Given the description of an element on the screen output the (x, y) to click on. 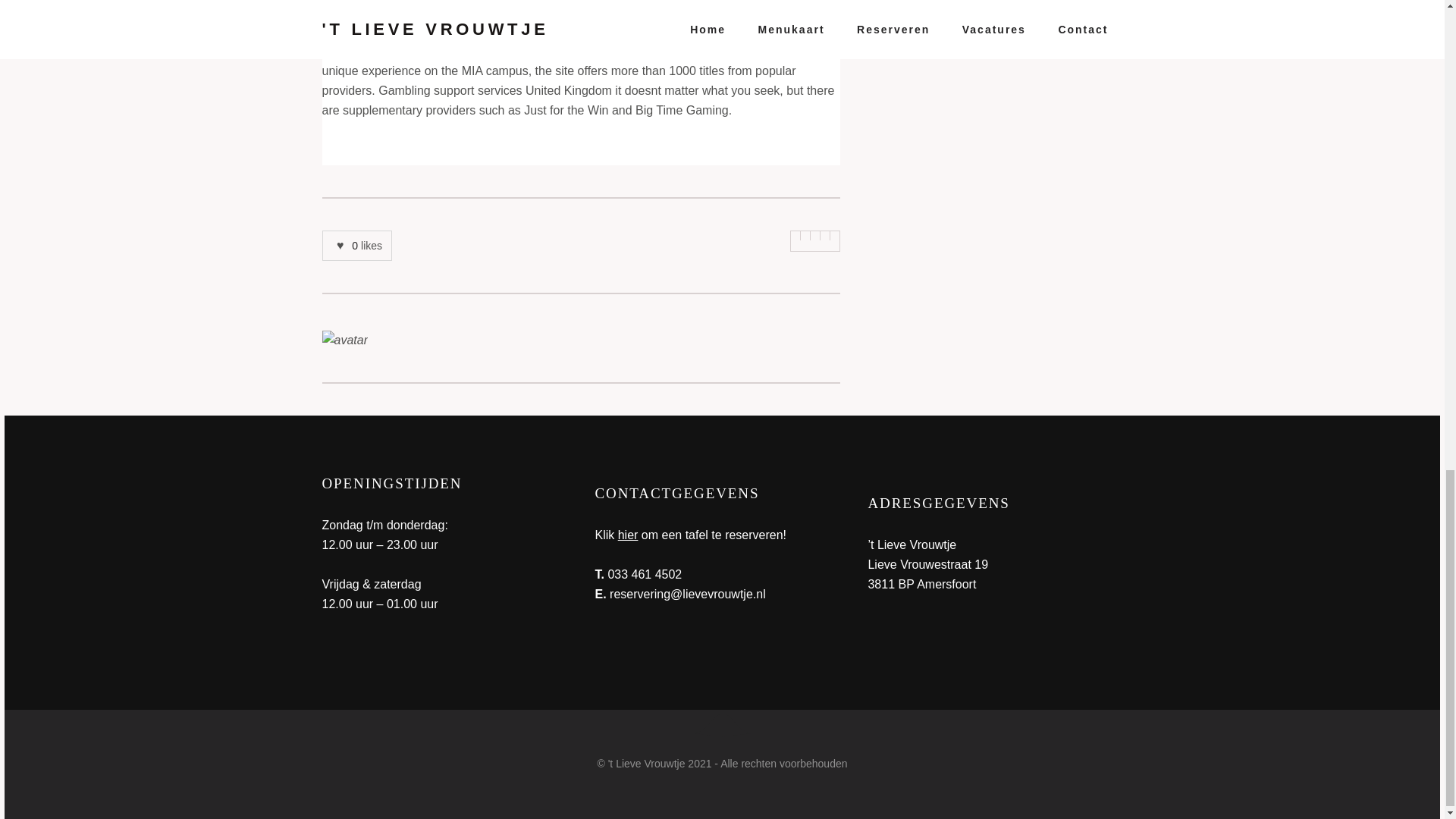
hier (628, 534)
